Given the description of an element on the screen output the (x, y) to click on. 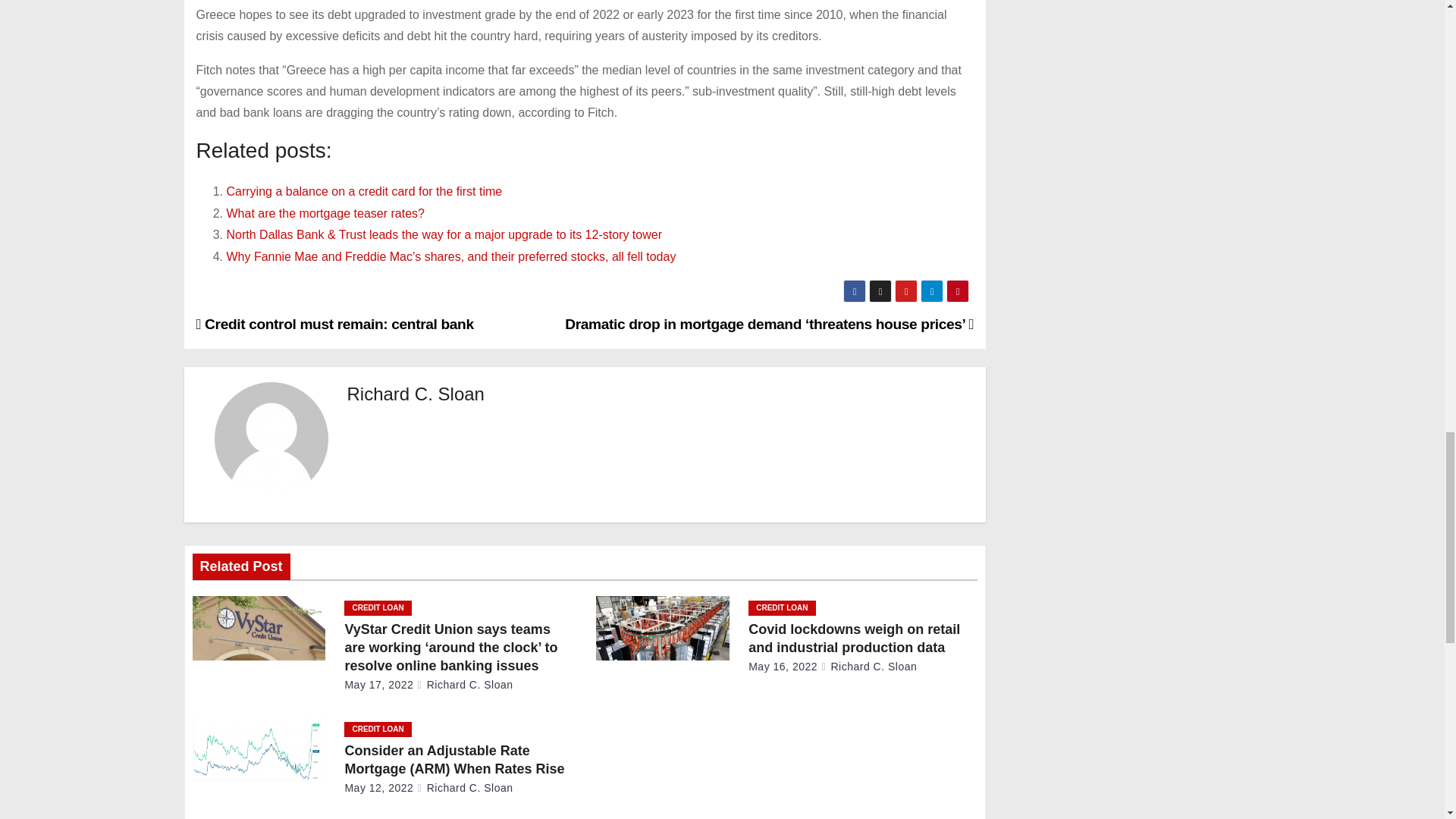
Carrying a balance on a credit card for the first time (363, 191)
May 17, 2022 (378, 684)
Credit control must remain: central bank (334, 324)
What are the mortgage teaser rates? (324, 213)
Richard C. Sloan (415, 394)
CREDIT LOAN (376, 607)
Richard C. Sloan (464, 684)
Carrying a balance on a credit card for the first time (363, 191)
What are the mortgage teaser rates? (324, 213)
